Given the description of an element on the screen output the (x, y) to click on. 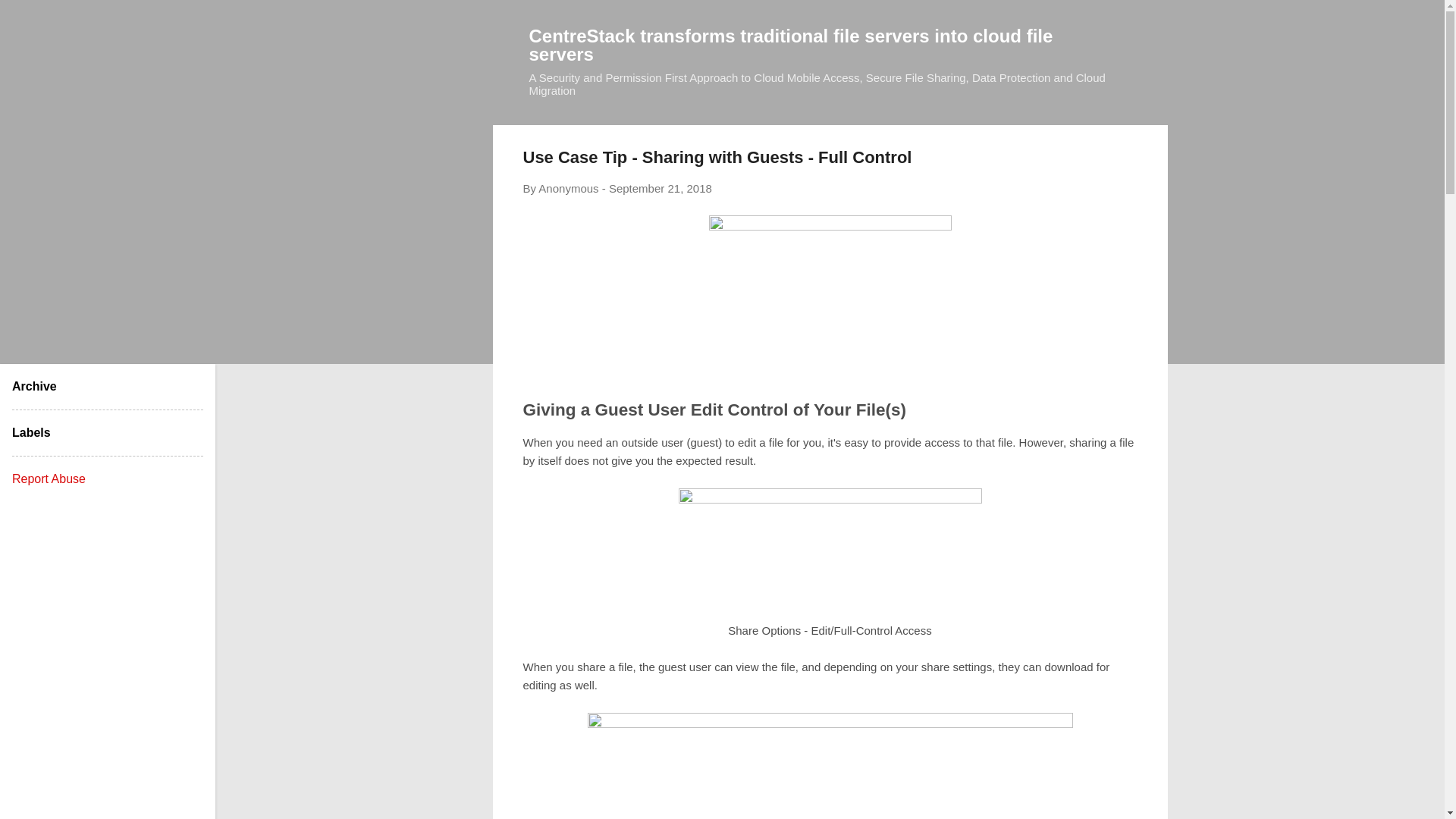
Search (29, 18)
September 21, 2018 (659, 187)
permanent link (659, 187)
